Given the description of an element on the screen output the (x, y) to click on. 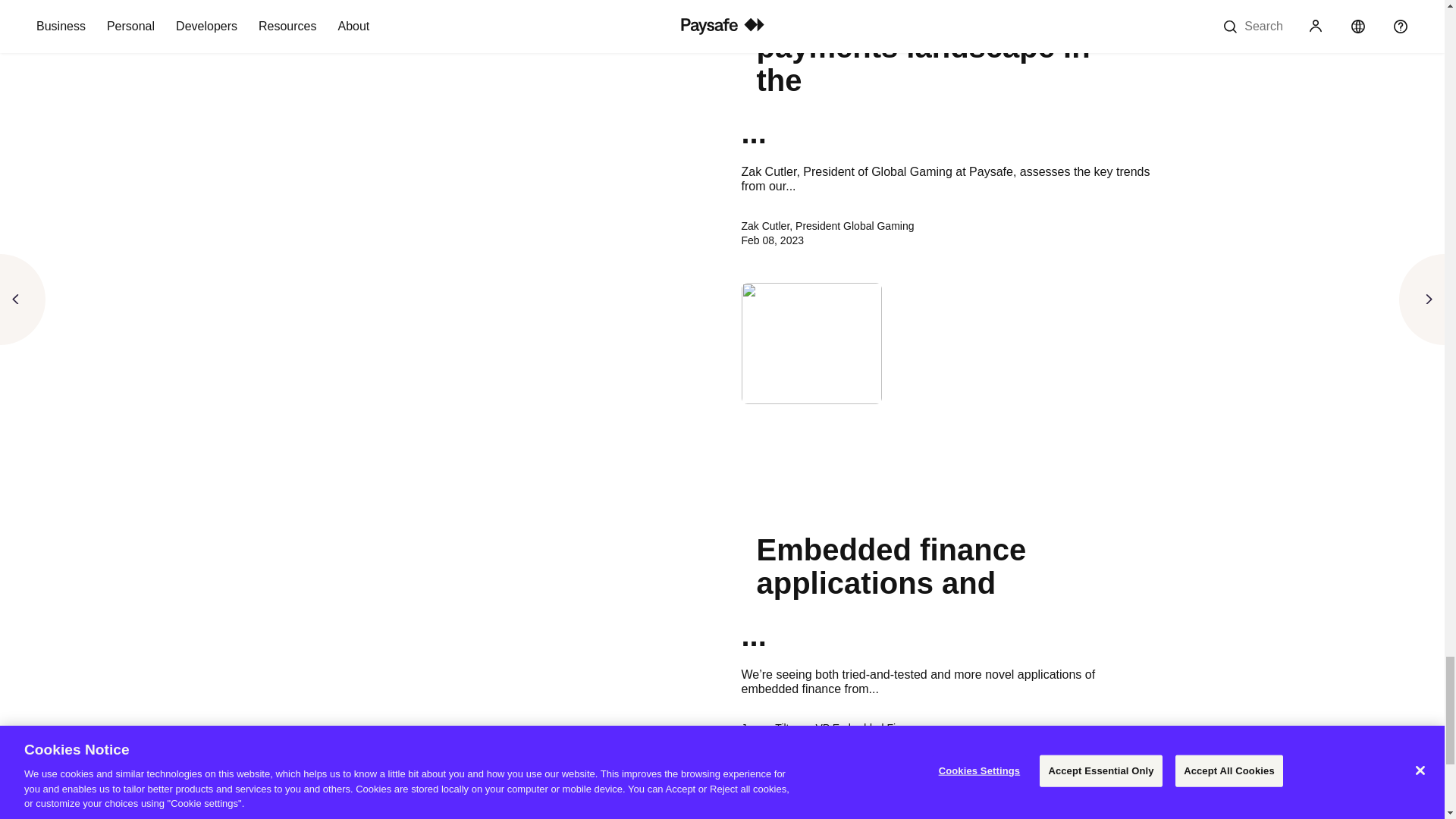
Assessing the iGaming payments landscape in the UK (946, 58)
